Given the description of an element on the screen output the (x, y) to click on. 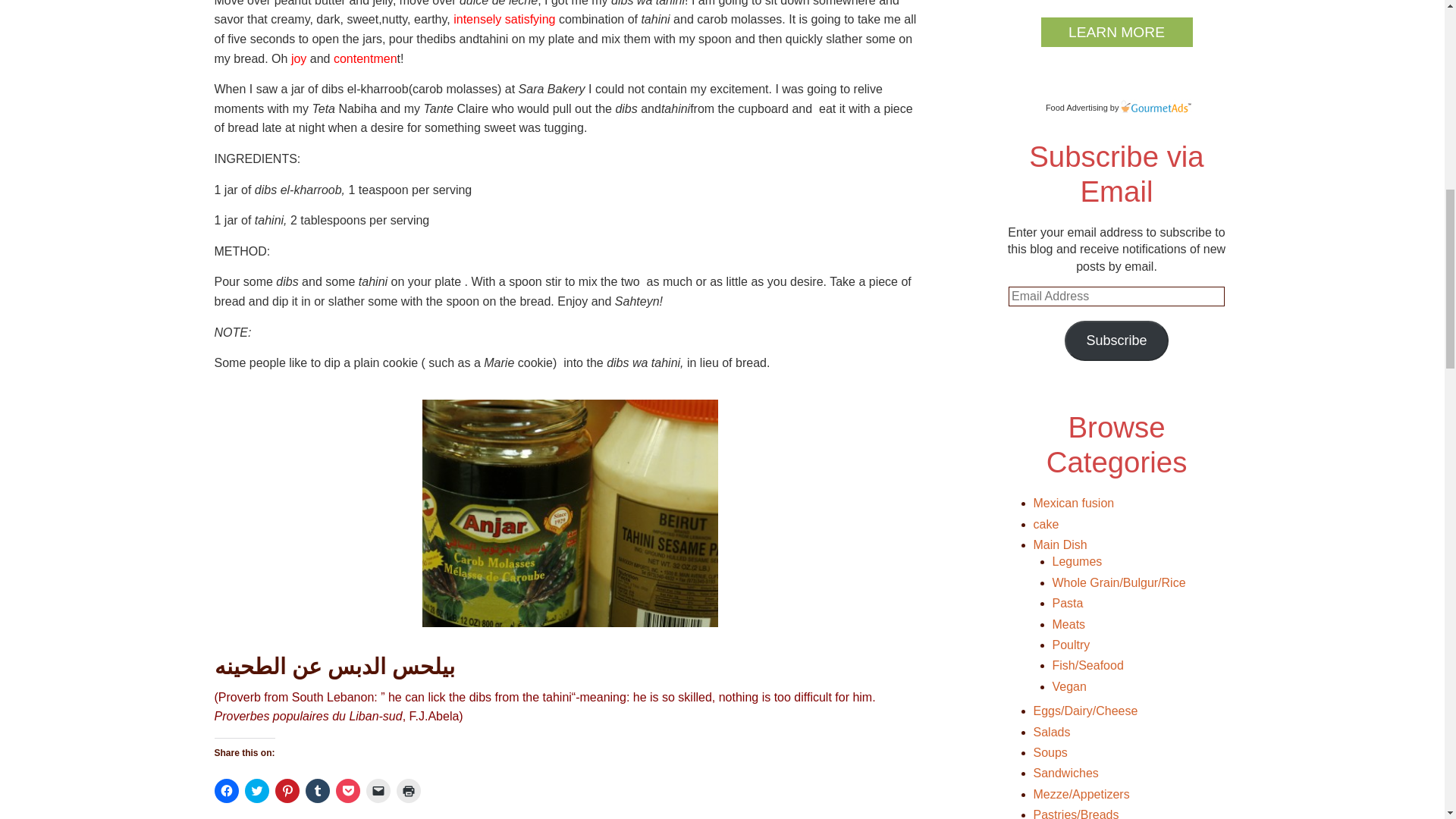
Click to share on Twitter (255, 790)
Click to share on Pocket (346, 790)
Click to print (408, 790)
Click to share on Facebook (226, 790)
Click to email a link to a friend (377, 790)
Click to share on Pinterest (286, 790)
Click to share on Tumblr (316, 790)
